Given the description of an element on the screen output the (x, y) to click on. 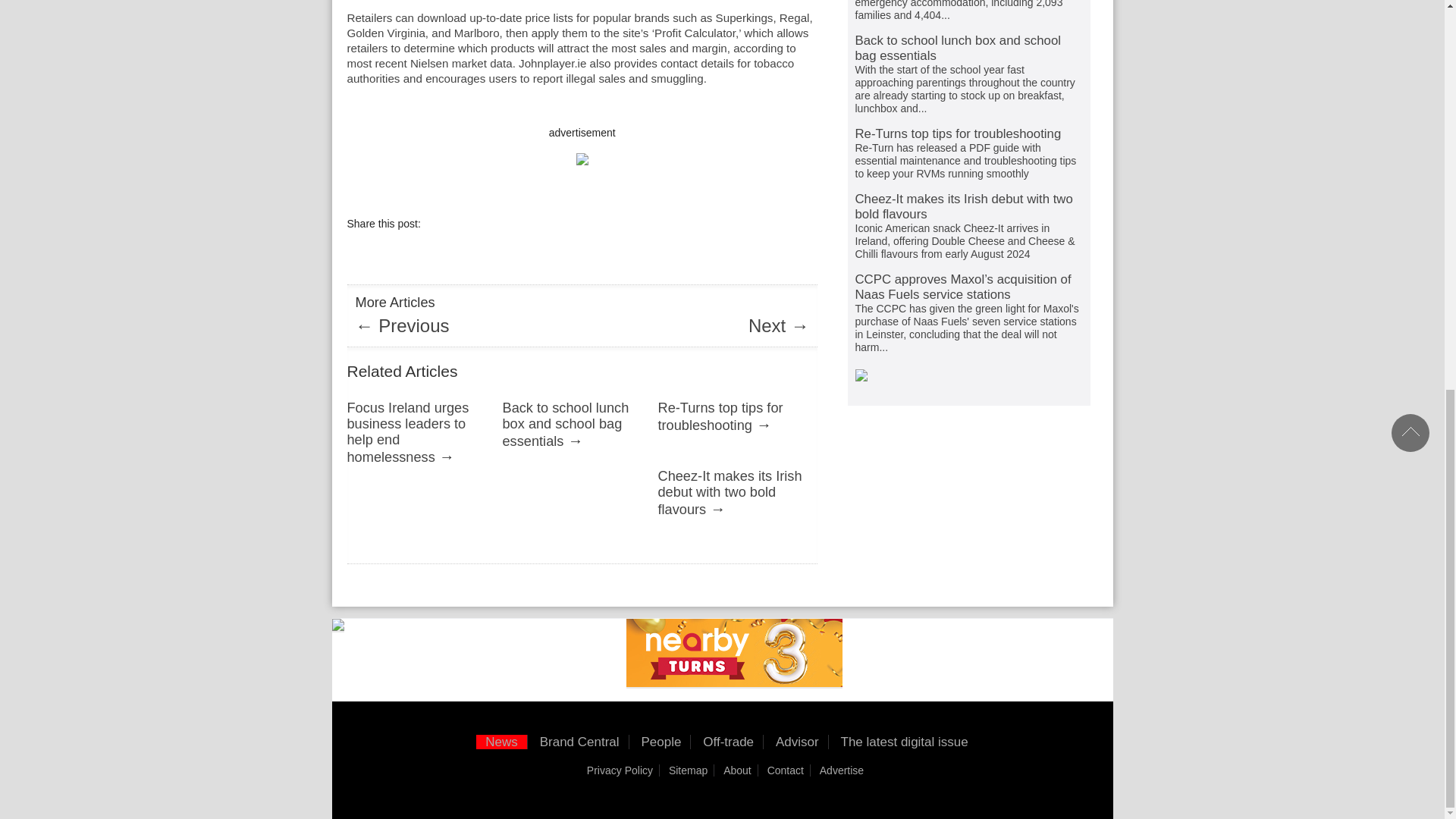
Re-Turns top tips for troubleshooting (720, 416)
Cheez-It makes its Irish debut with two bold flavours (730, 492)
Back to school lunch box and school bag essentials (565, 424)
Back to school lunch box and school bag essentials (565, 424)
